Given the description of an element on the screen output the (x, y) to click on. 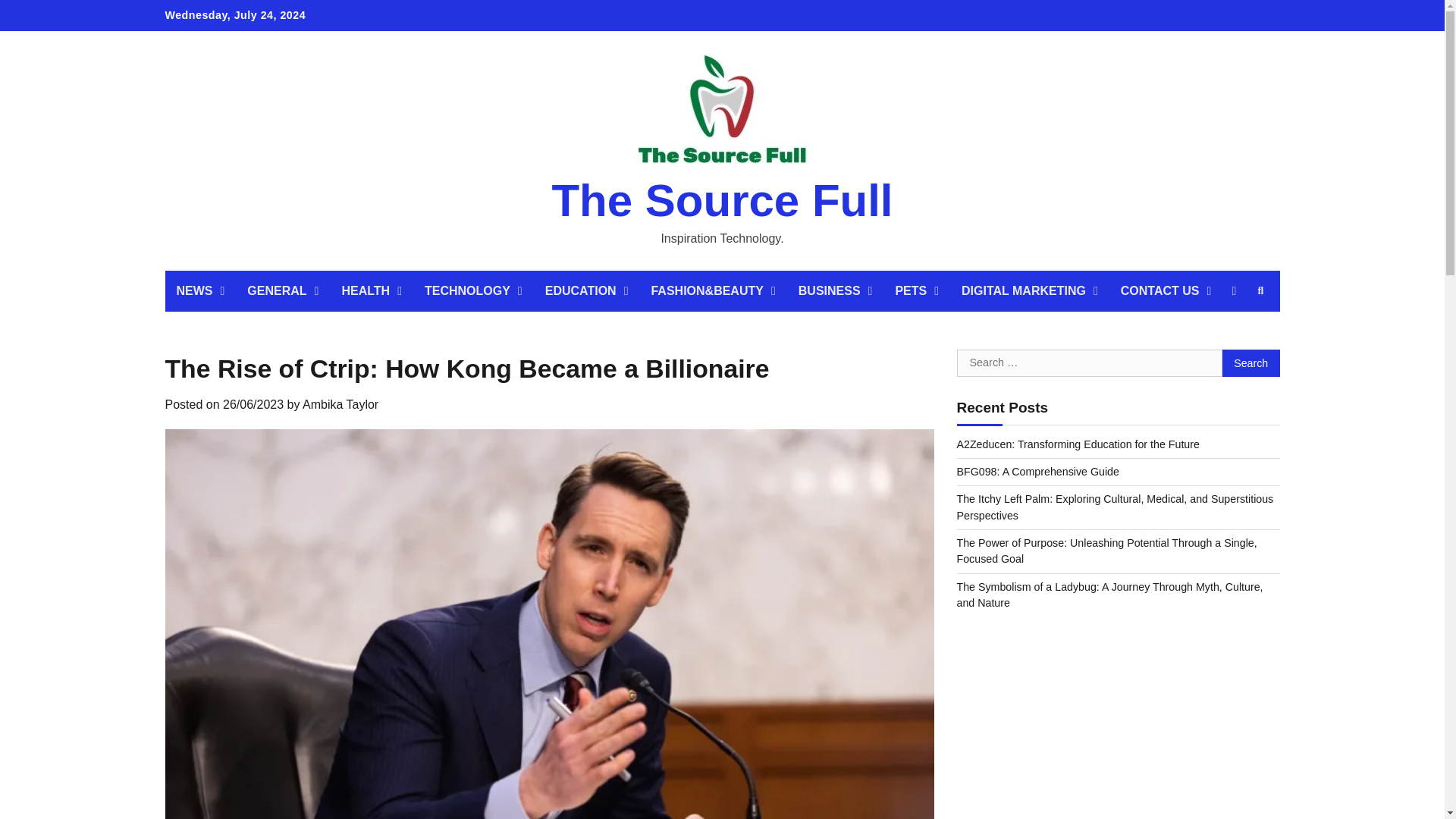
Search (1260, 291)
Search (1251, 362)
GENERAL (282, 291)
EDUCATION (587, 291)
BUSINESS (835, 291)
TECHNOLOGY (473, 291)
HEALTH (371, 291)
PETS (916, 291)
View Random Post (1233, 291)
The Source Full (721, 200)
Search (1251, 362)
NEWS (200, 291)
